Given the description of an element on the screen output the (x, y) to click on. 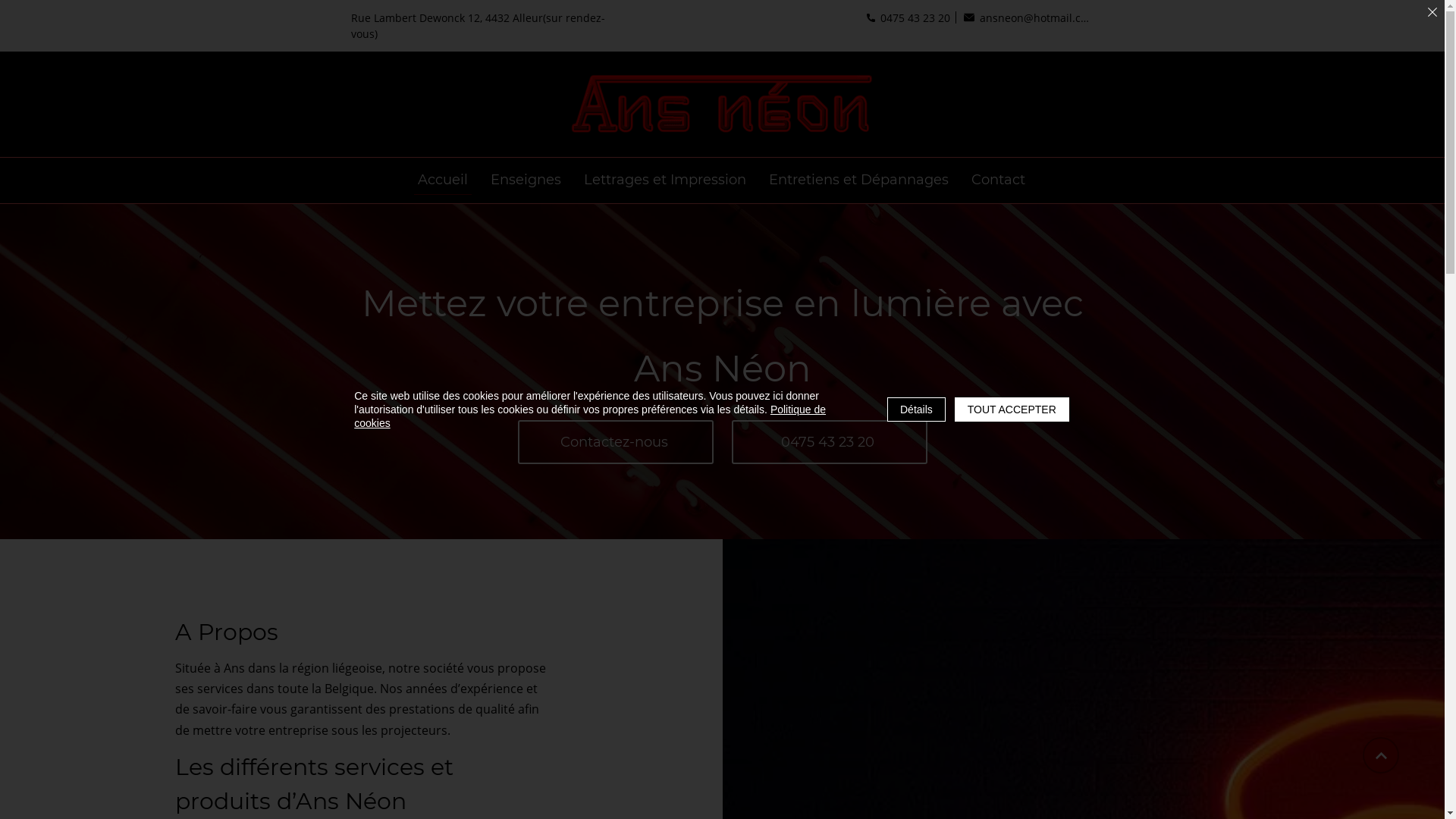
Accueil Element type: text (442, 179)
Enseignes Element type: text (525, 179)
ansneon@hotmail.com Element type: text (1028, 17)
TOUT ACCEPTER Element type: text (1011, 409)
Politique de cookies Element type: text (589, 416)
Contact Element type: text (998, 179)
Contactez-nous Element type: text (614, 442)
0475 43 23 20 Element type: text (908, 17)
Lettrages et Impression Element type: text (664, 179)
0475 43 23 20 Element type: text (828, 442)
